Given the description of an element on the screen output the (x, y) to click on. 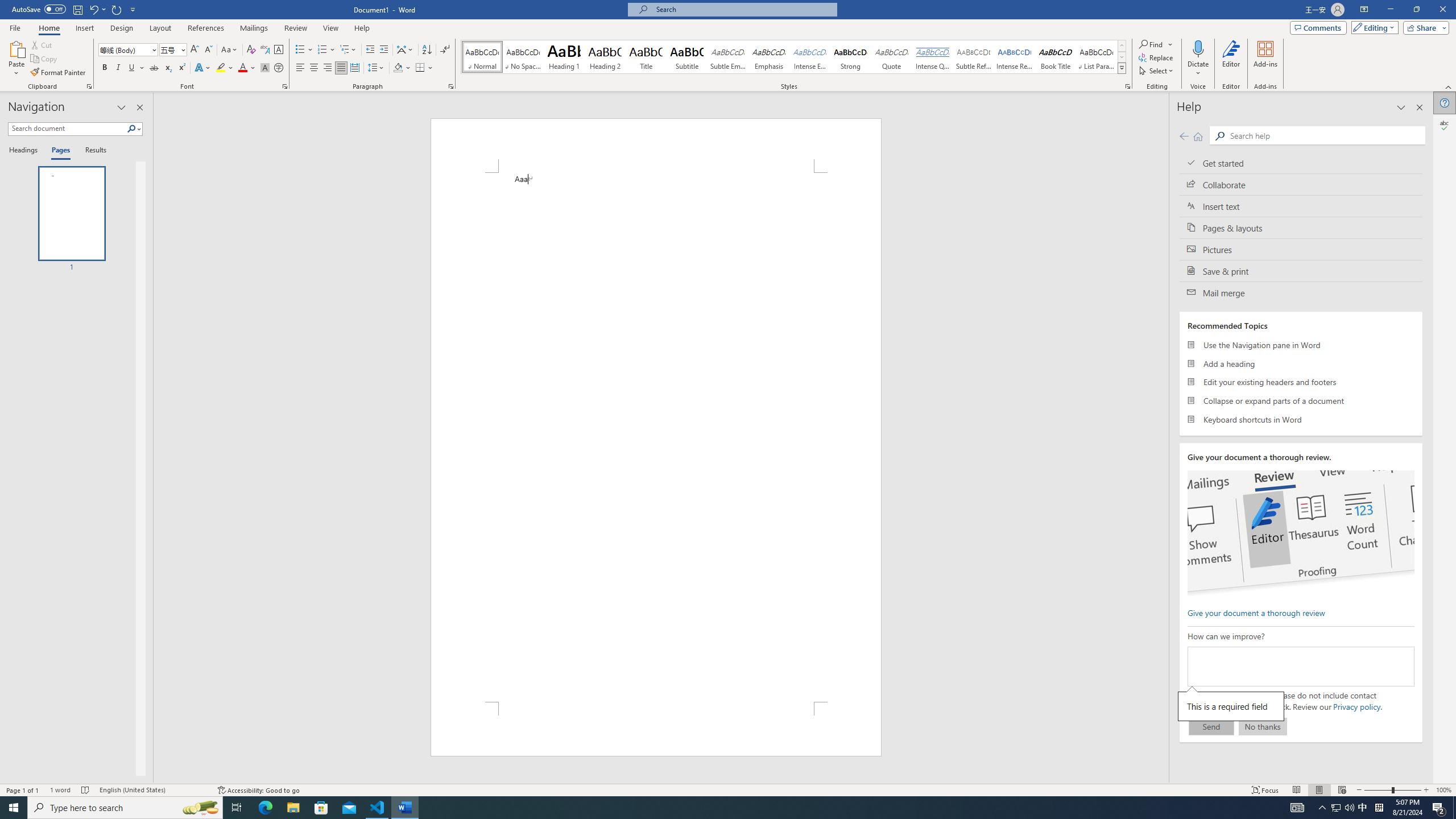
How can we improve? (1300, 666)
Emphasis (768, 56)
Give your document a thorough review (1256, 611)
